Given the description of an element on the screen output the (x, y) to click on. 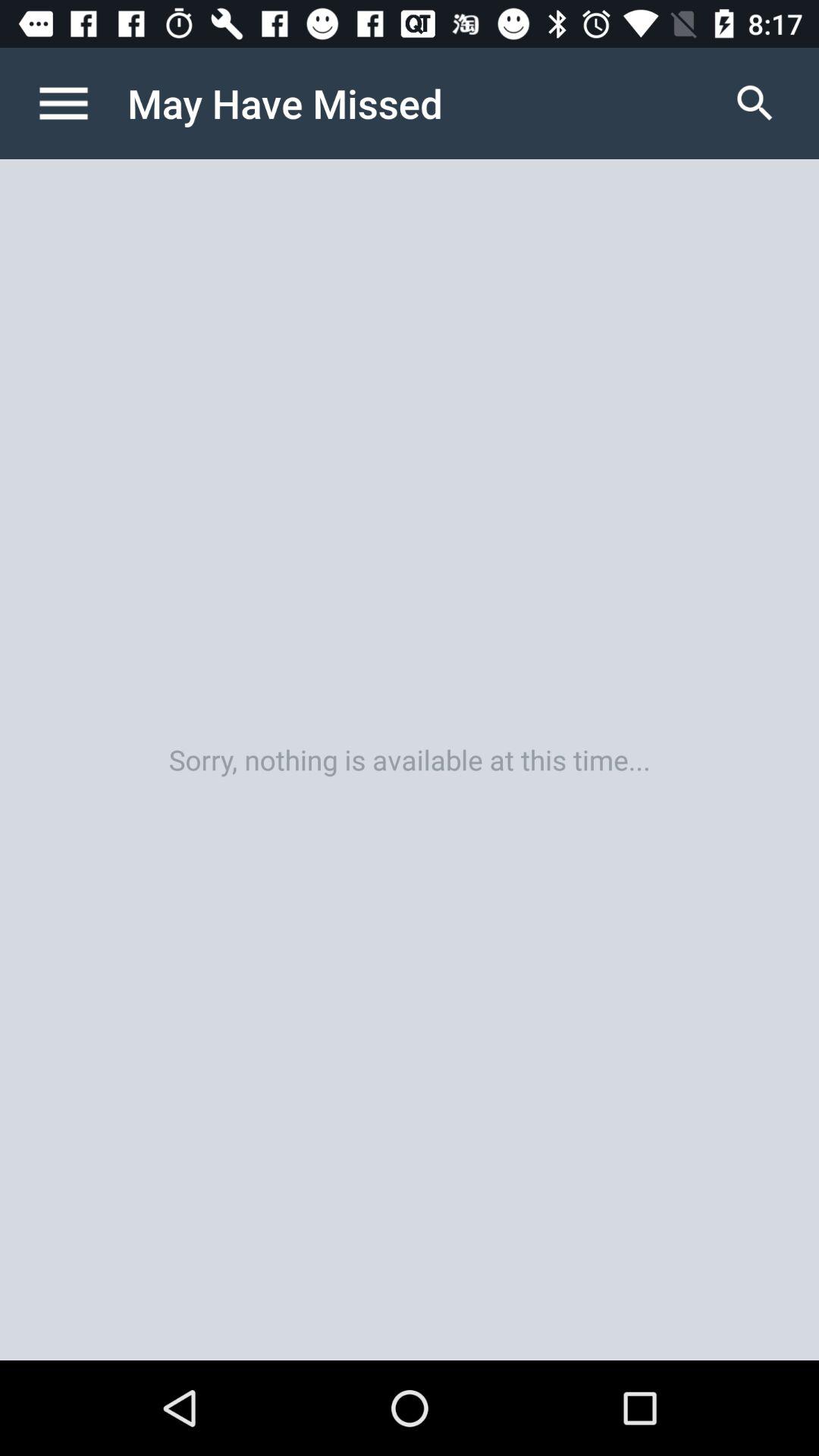
tap the item to the left of may have missed item (79, 103)
